Given the description of an element on the screen output the (x, y) to click on. 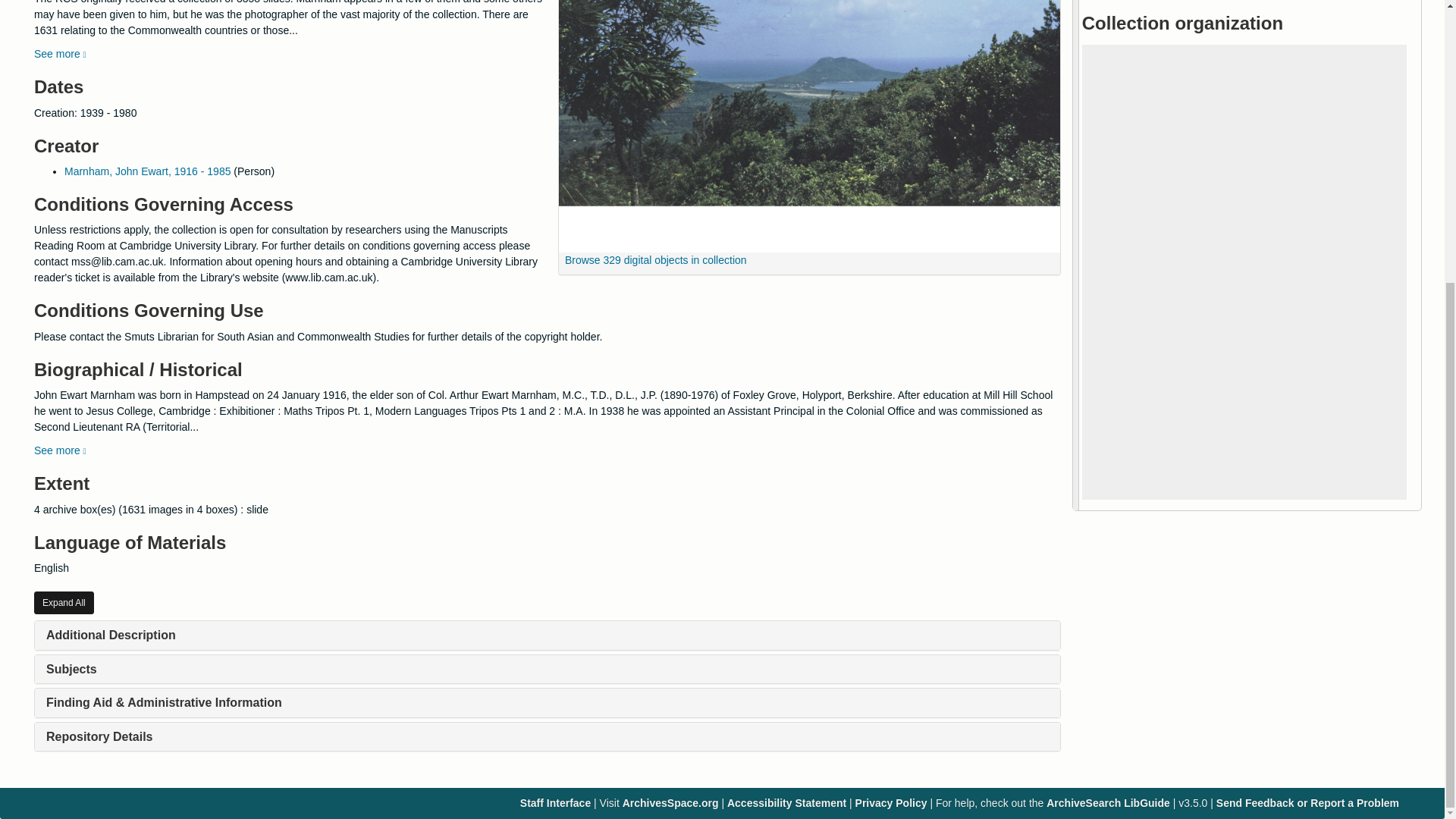
Subjects (71, 668)
Link to digital object (809, 126)
Privacy Policy (891, 802)
Accessibility Statement (785, 802)
Browse 329 digital objects in collection (652, 259)
Additional Description (111, 634)
See more (59, 53)
Marnham, John Ewart, 1916 - 1985 (147, 171)
See more (59, 450)
Expand All (63, 602)
